Given the description of an element on the screen output the (x, y) to click on. 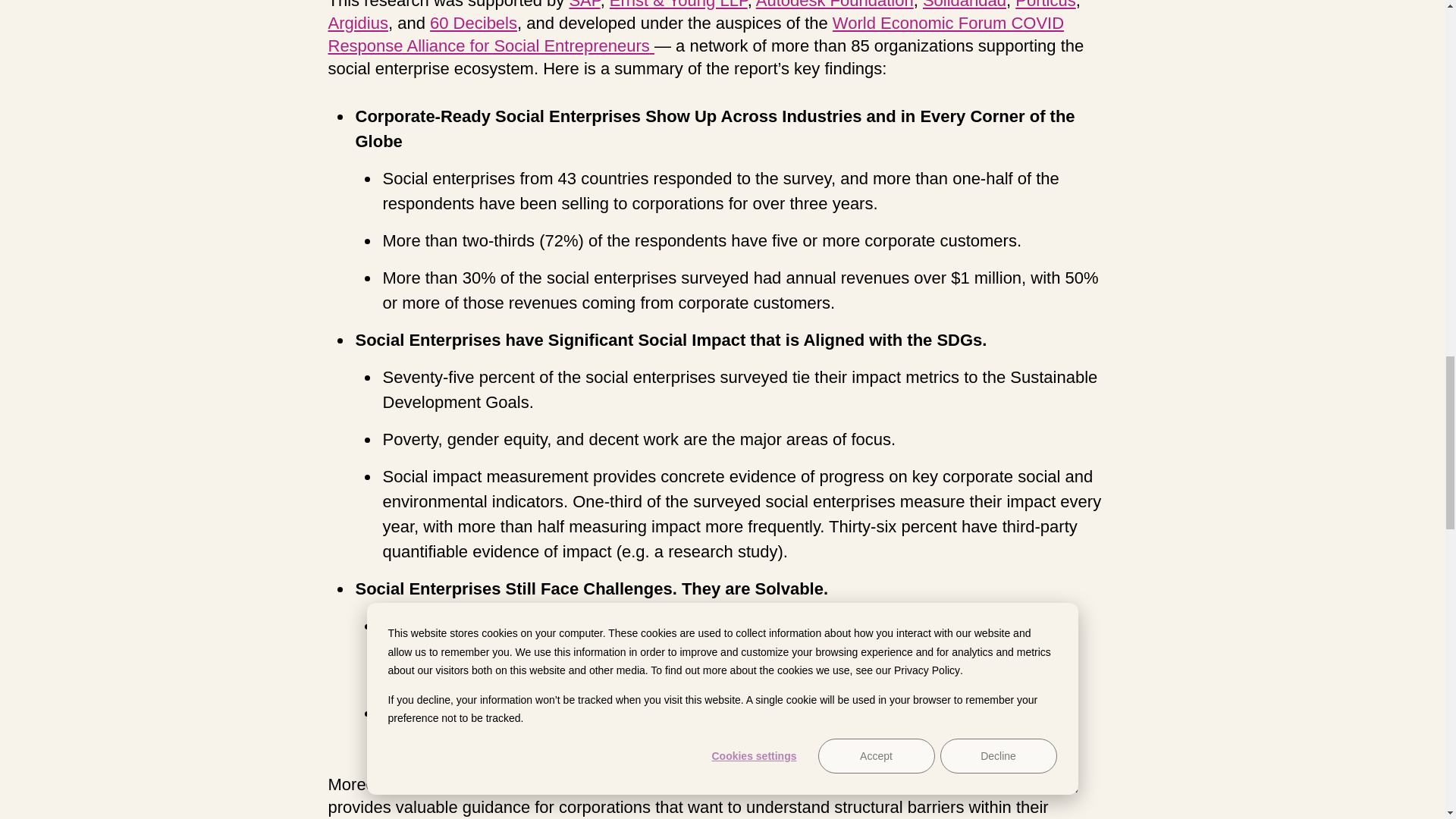
60 Decibels (472, 23)
The Social Procurement Manual (678, 784)
Porticus (1044, 5)
SAP (584, 5)
Argidius (357, 23)
Autodesk Foundation (834, 5)
Solidaridad (964, 5)
